Given the description of an element on the screen output the (x, y) to click on. 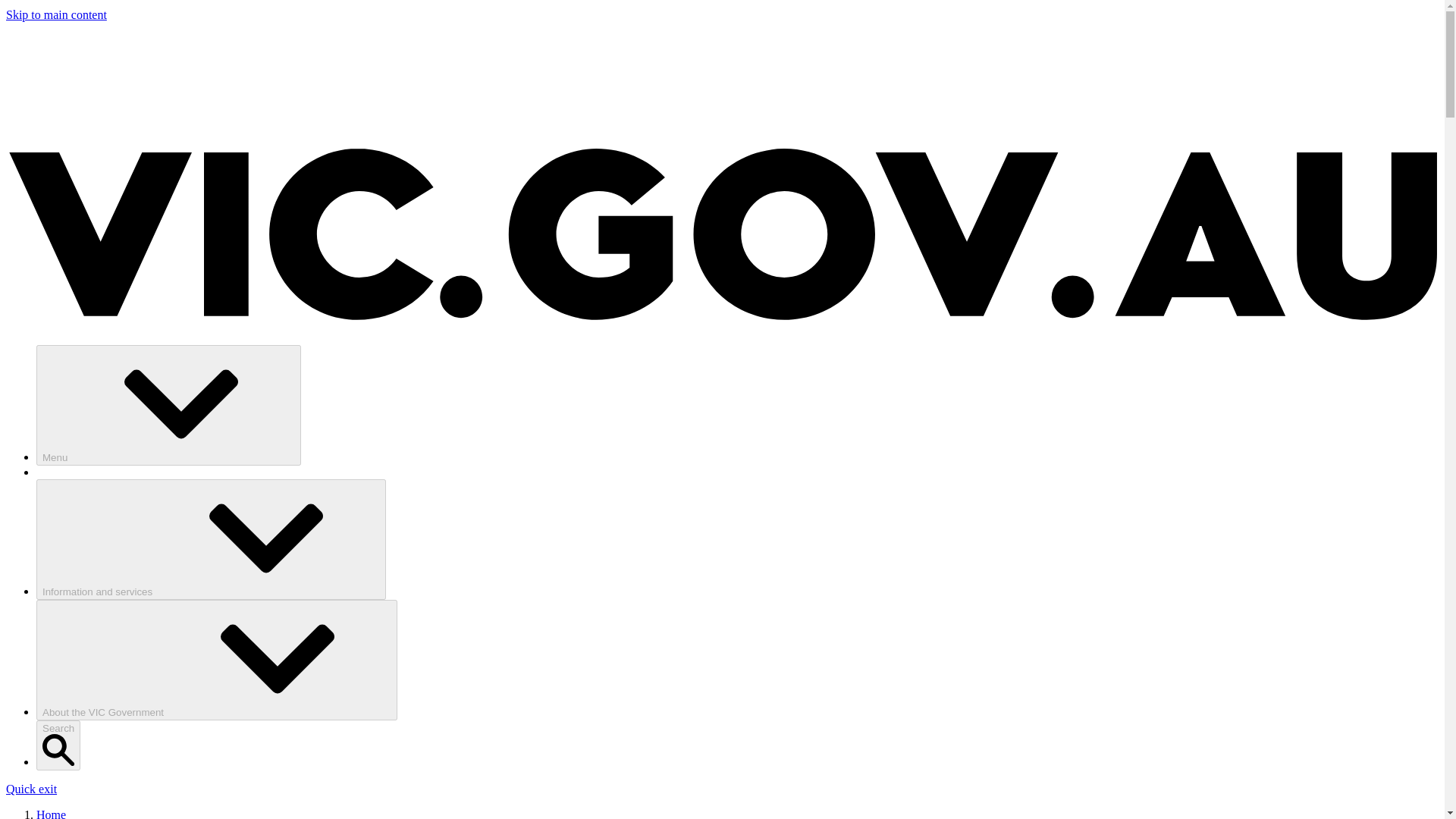
Skip to main content (55, 14)
Quick exit (30, 788)
Home (50, 813)
